Given the description of an element on the screen output the (x, y) to click on. 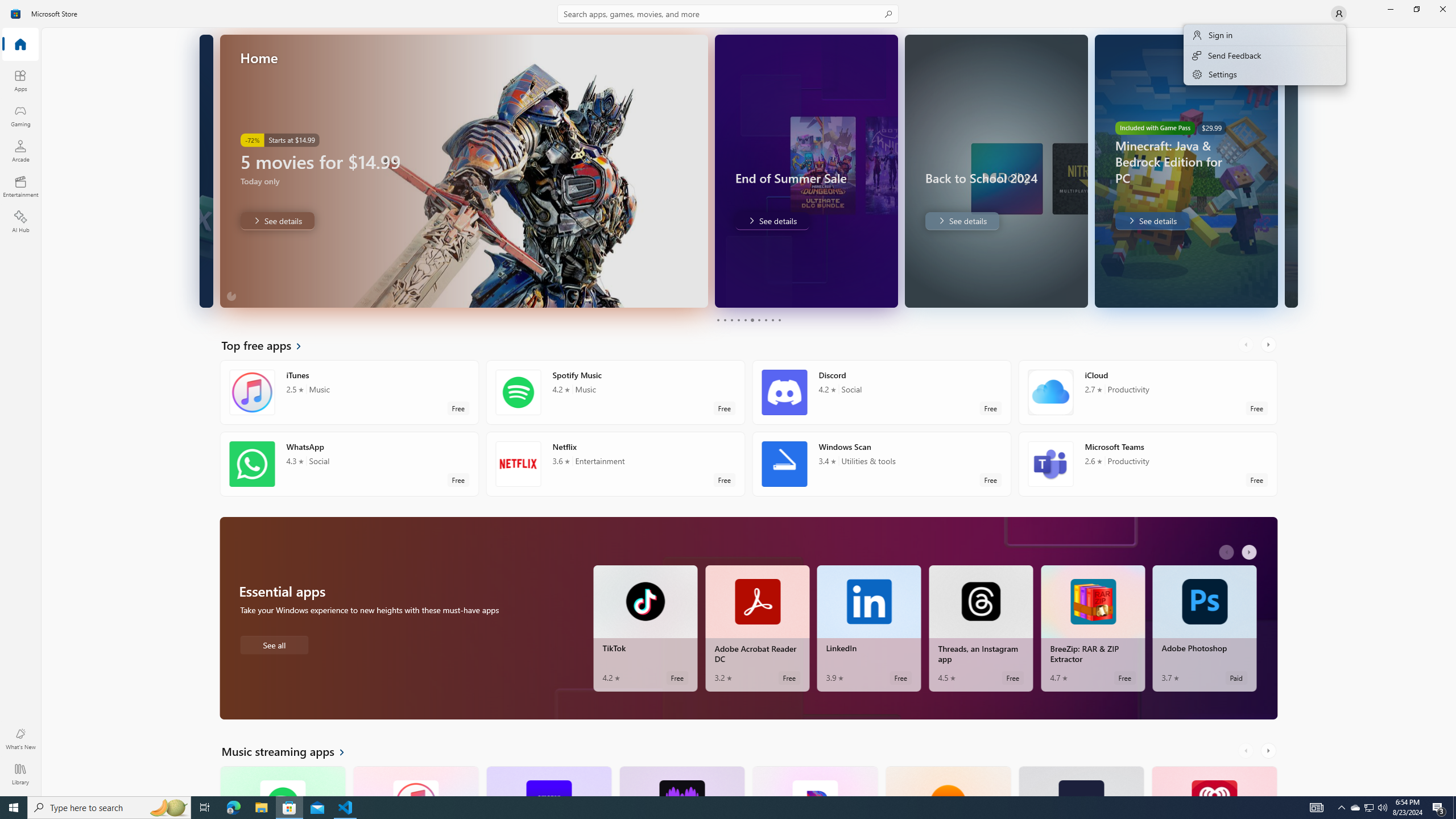
AutomationID: NavigationControl (728, 398)
See all  Essential apps (274, 644)
Page 1 (717, 319)
AutomationID: RightScrollButton (1269, 750)
Netflix. Average rating of 3.6 out of five stars. Free   (615, 463)
Page 8 (764, 319)
Page 5 (744, 319)
Pandora. Average rating of 4.5 out of five stars. Free   (814, 780)
